Given the description of an element on the screen output the (x, y) to click on. 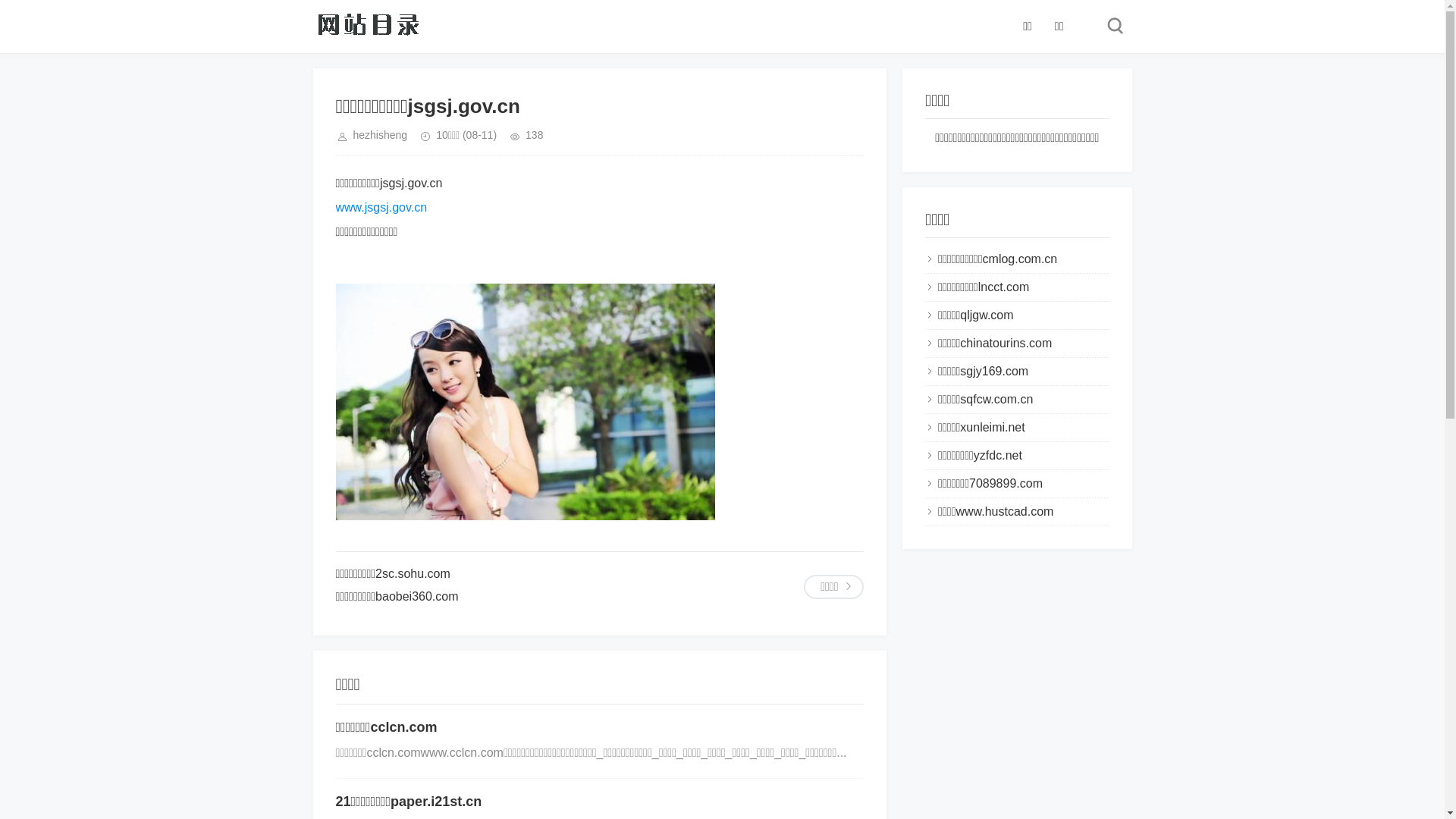
www.jsgsj.gov.cn Element type: text (380, 206)
